Given the description of an element on the screen output the (x, y) to click on. 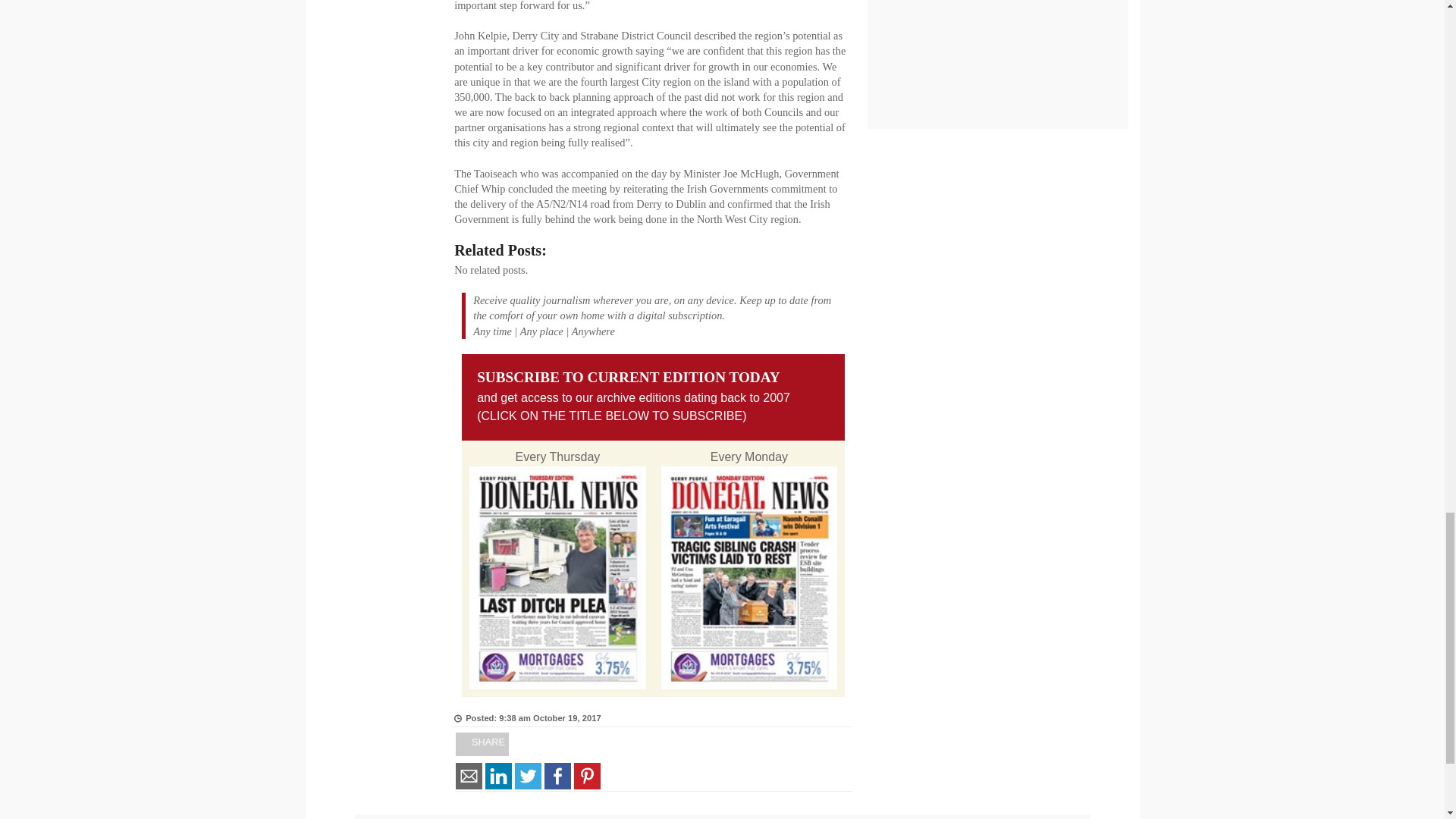
email (468, 776)
twitter (528, 776)
linkedin (498, 776)
